Given the description of an element on the screen output the (x, y) to click on. 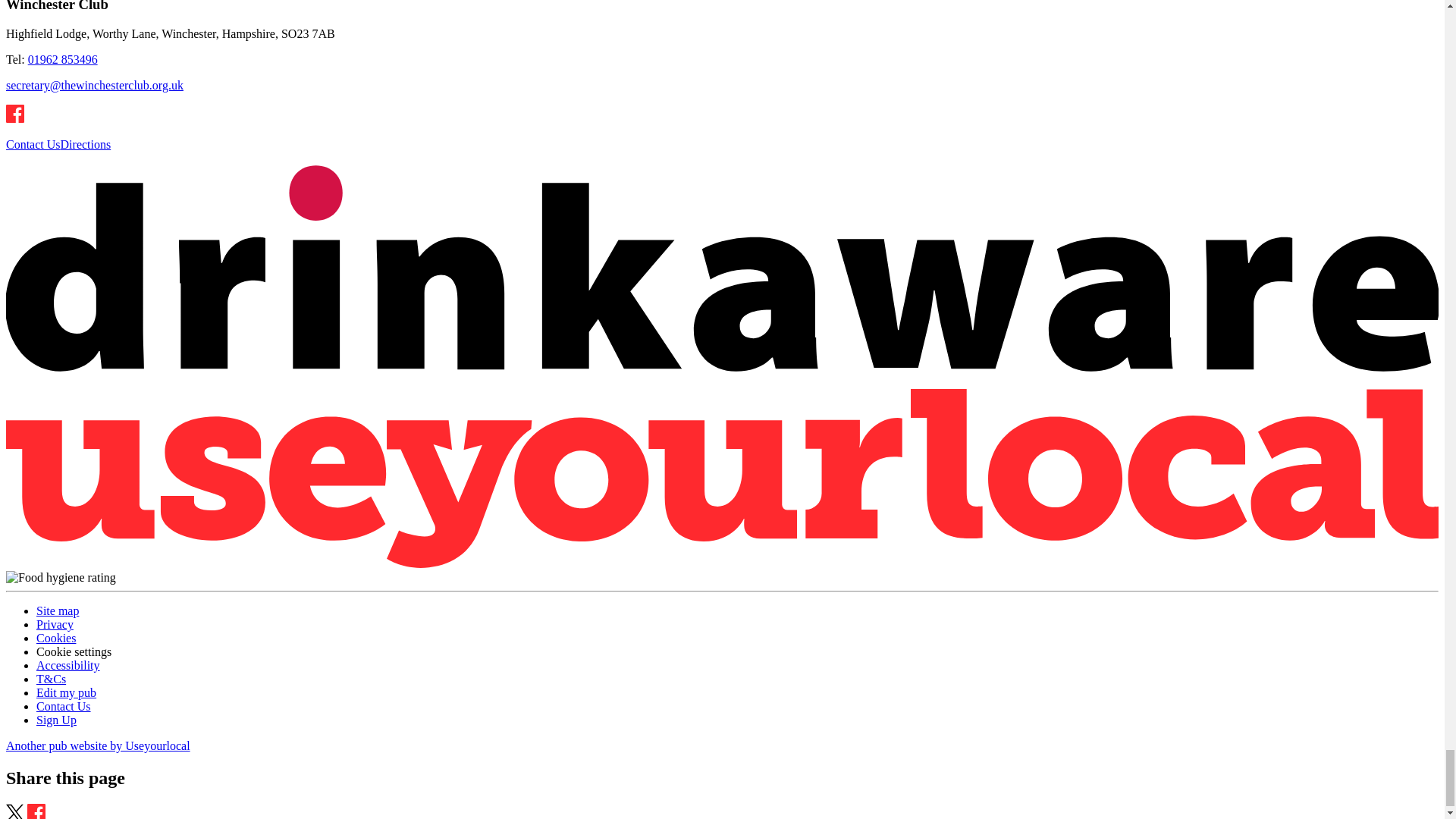
Contact Us (63, 706)
Privacy (55, 624)
Sign Up (56, 719)
Contact Us (33, 144)
Edit my pub (66, 692)
Site map (57, 610)
Facebook (14, 118)
01962 853496 (62, 59)
Cookie settings (74, 651)
Accessibility (68, 665)
Directions (86, 144)
Food hygiene rating (60, 577)
Facebook (14, 113)
Cookies (55, 637)
Another pub website by Useyourlocal (97, 745)
